Given the description of an element on the screen output the (x, y) to click on. 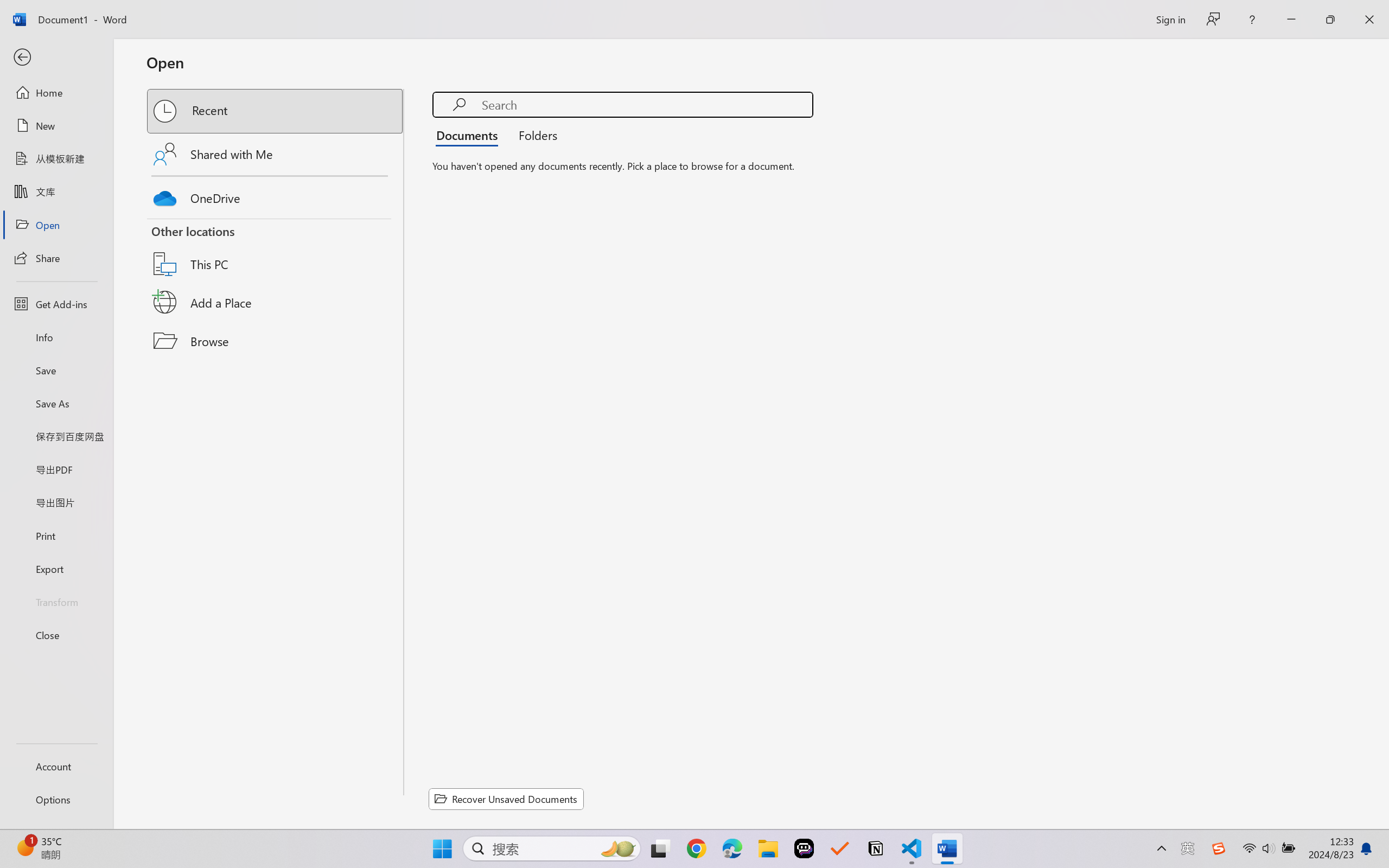
Save As (56, 403)
Recover Unsaved Documents (506, 798)
Back (56, 57)
Print (56, 535)
Shared with Me (275, 153)
Recent (275, 110)
New (56, 125)
Export (56, 568)
